Given the description of an element on the screen output the (x, y) to click on. 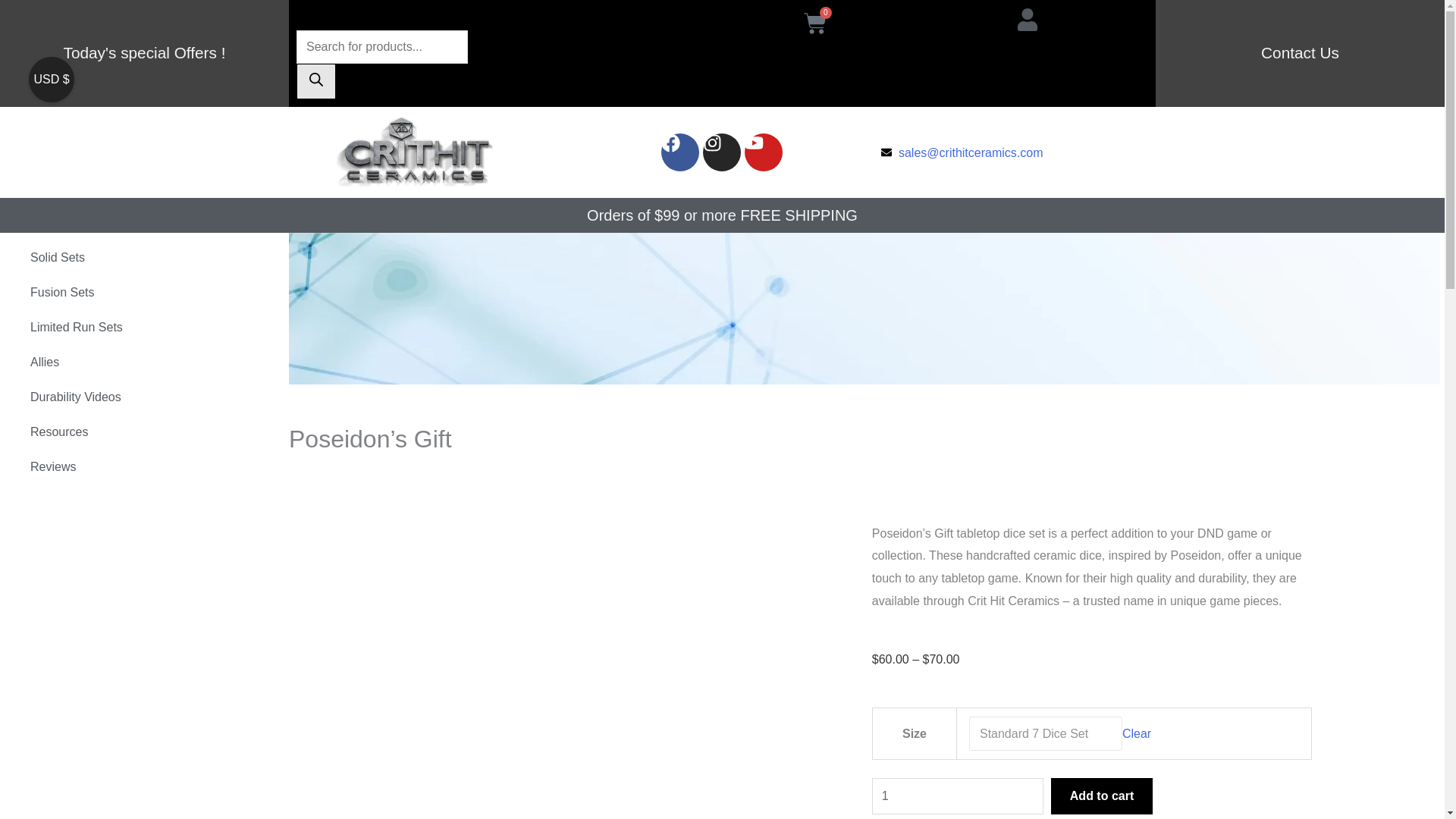
Resources (147, 431)
Today's special Offers ! (144, 52)
Fusion Sets (147, 292)
Solid Sets (147, 257)
Allies (147, 362)
Contact Us (1299, 52)
Youtube (763, 152)
Reviews (147, 466)
Limited Run Sets (147, 327)
Clear (1136, 733)
